Given the description of an element on the screen output the (x, y) to click on. 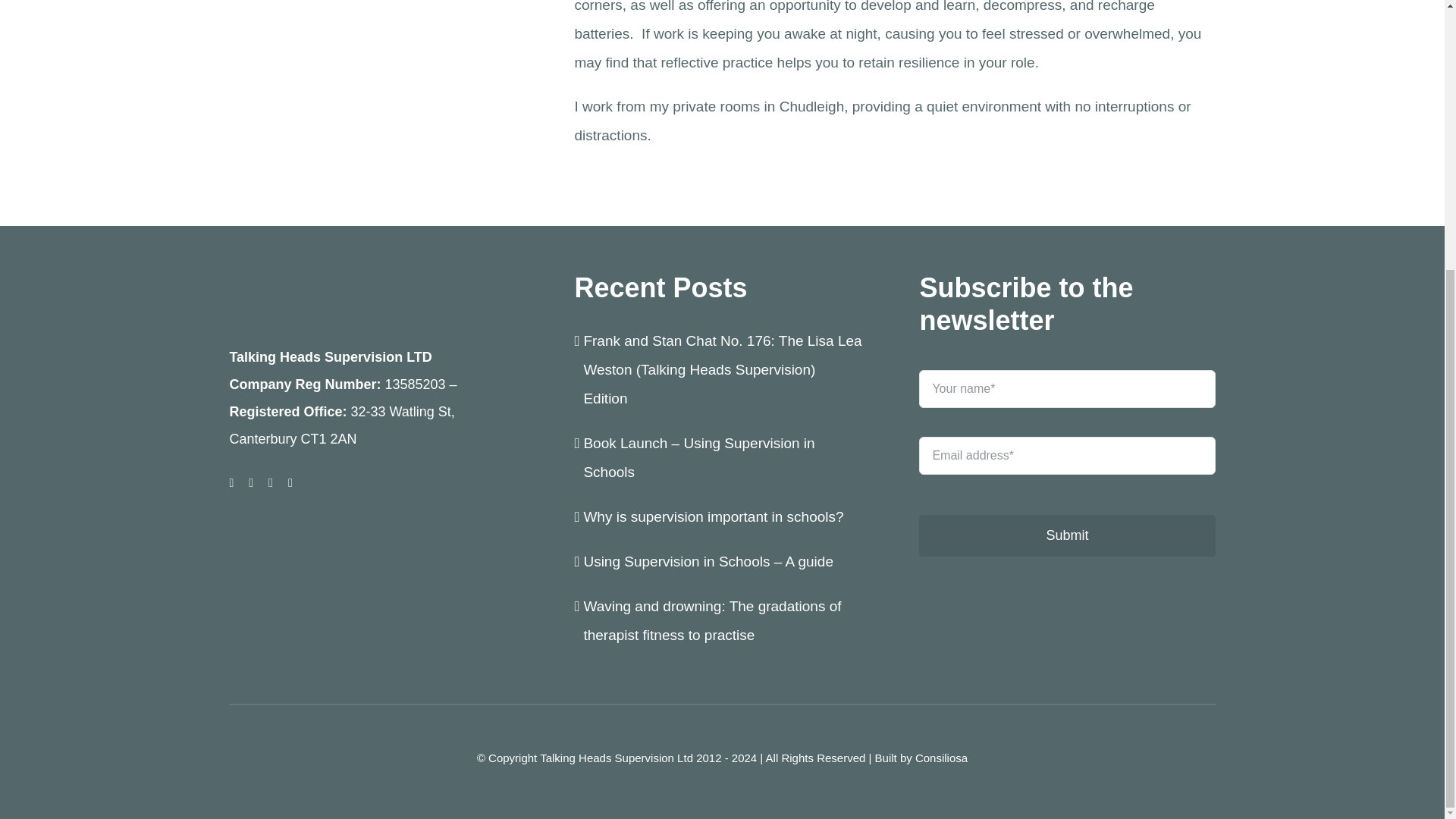
Submit (1066, 535)
Consiliosa (941, 757)
Why is supervision important in schools?  (715, 516)
SB-Photo-e1521456479795 (376, 35)
Submit (1066, 477)
